Given the description of an element on the screen output the (x, y) to click on. 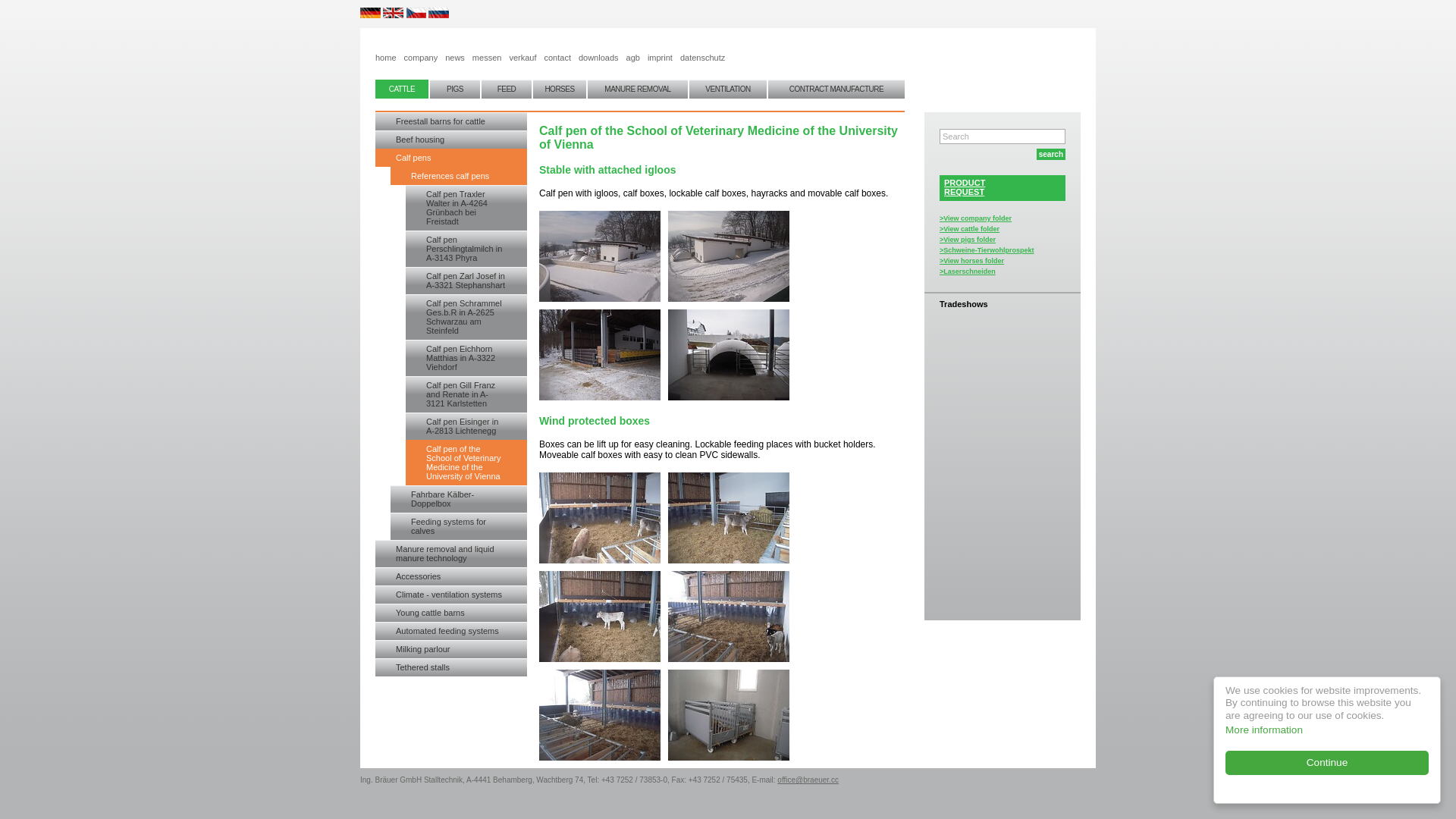
messen (490, 44)
Search (1002, 136)
search (1050, 153)
company (424, 44)
Search (1002, 136)
imprint (663, 44)
datenschutz (705, 44)
More information (1277, 729)
Continue (1341, 762)
Calf pen Eichhorn Matthias in A-3322 Viehdorf (466, 357)
Calf pen Perschlingtalmilch in A-3143 Phyra (466, 248)
Calf pen Gill Franz and Renate in A-3121 Karlstetten (466, 393)
verkauf (525, 44)
CATTLE (401, 88)
